Given the description of an element on the screen output the (x, y) to click on. 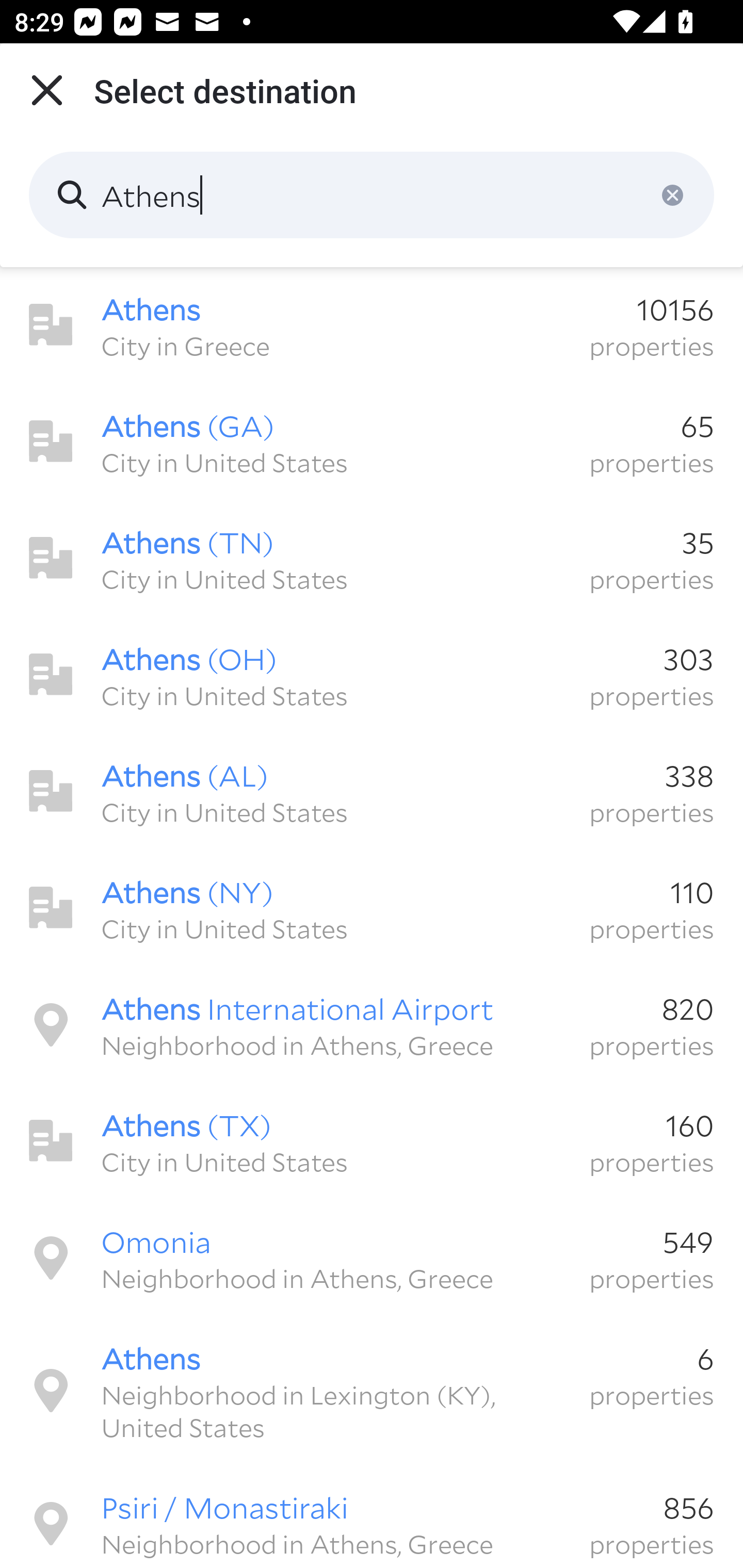
Athens (371, 195)
Athens 10156 City in Greece properties (371, 325)
Athens (GA) 65 City in United States properties (371, 442)
Athens (TN) 35 City in United States properties (371, 558)
Athens (OH) 303 City in United States properties (371, 674)
Athens (AL) 338 City in United States properties (371, 791)
Athens (NY) 110 City in United States properties (371, 907)
Athens (TX) 160 City in United States properties (371, 1141)
